Given the description of an element on the screen output the (x, y) to click on. 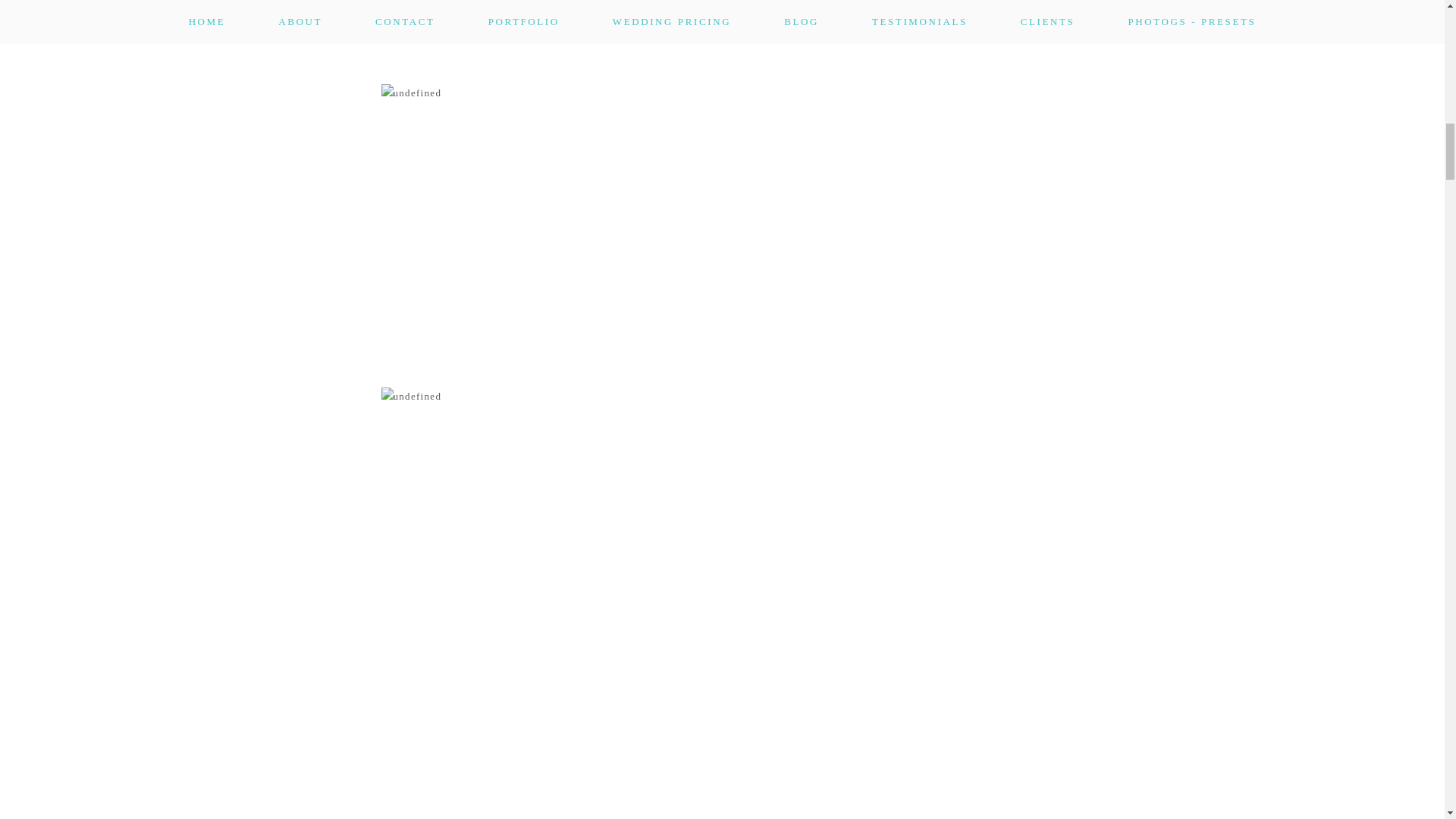
undefined (721, 42)
